Given the description of an element on the screen output the (x, y) to click on. 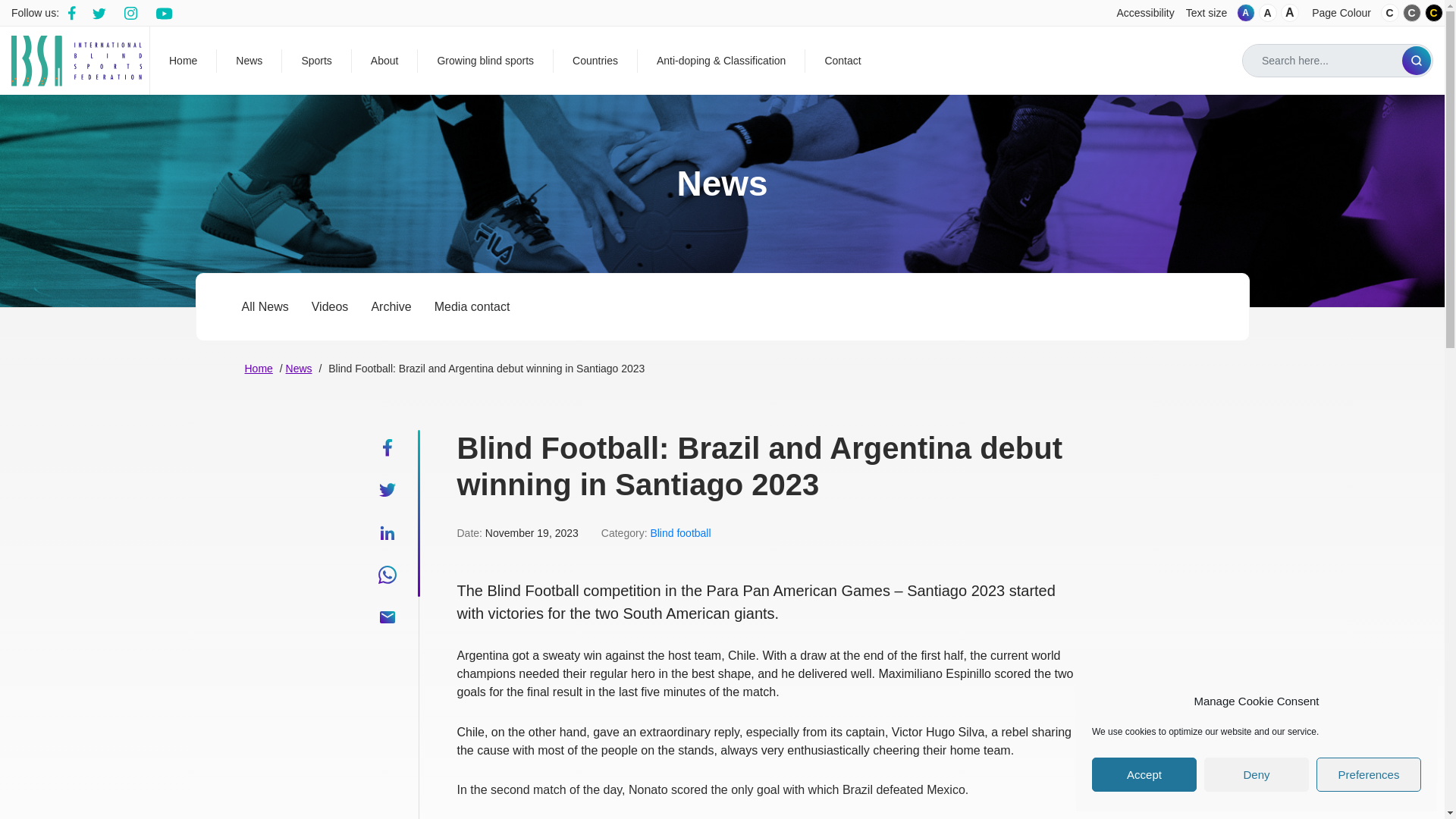
Deny (1256, 774)
Home (182, 60)
Text size large (1289, 13)
C (1412, 13)
White Site Theme (1388, 13)
Instagram (132, 11)
Accept (1144, 774)
News (249, 60)
Instagram (165, 11)
Accessibility (1144, 12)
Text size medium (1267, 13)
Facebook (72, 11)
Sports (316, 60)
Home (182, 60)
Twitter (101, 11)
